Given the description of an element on the screen output the (x, y) to click on. 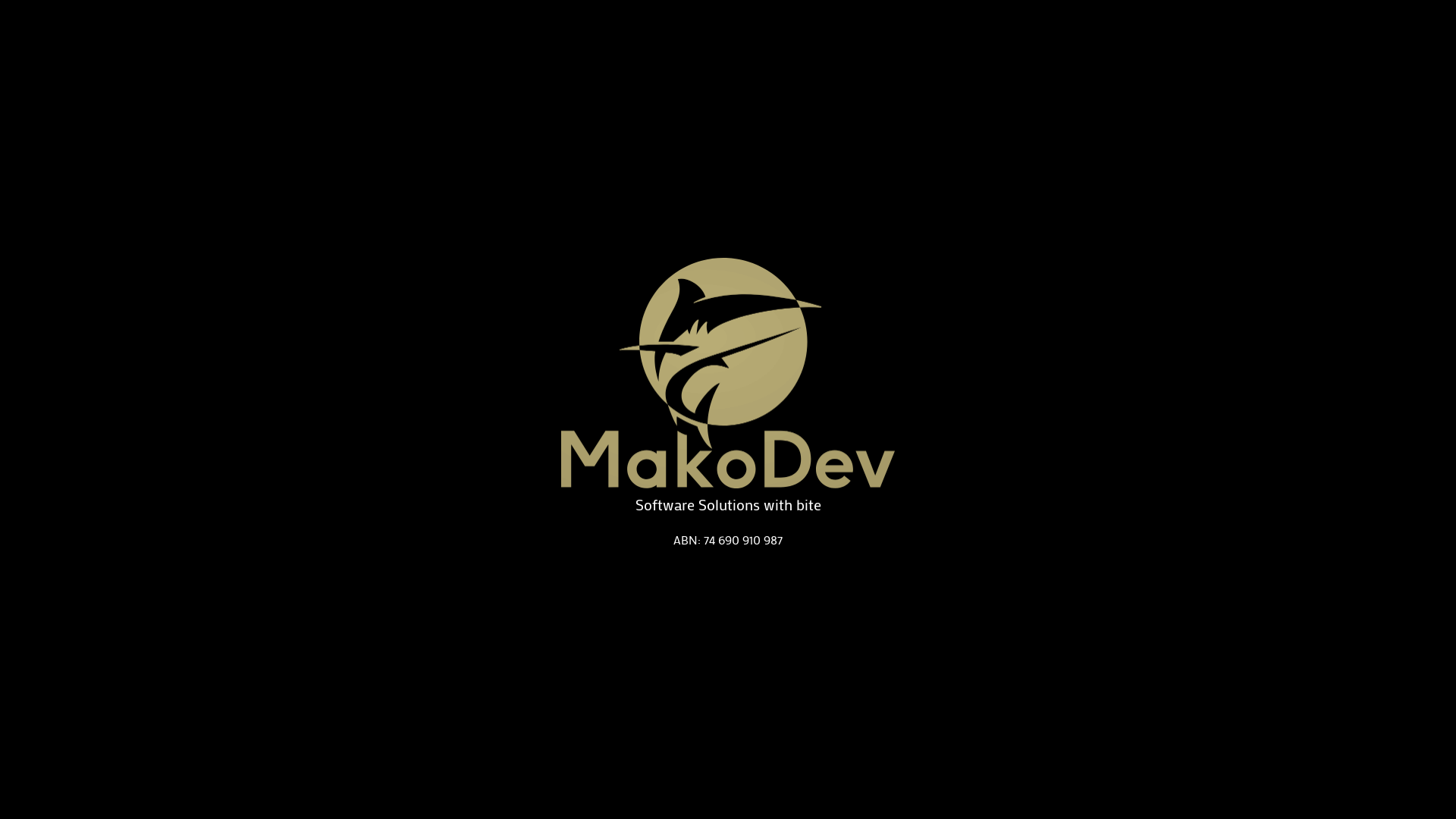
MakoDev Element type: hover (727, 373)
